Given the description of an element on the screen output the (x, y) to click on. 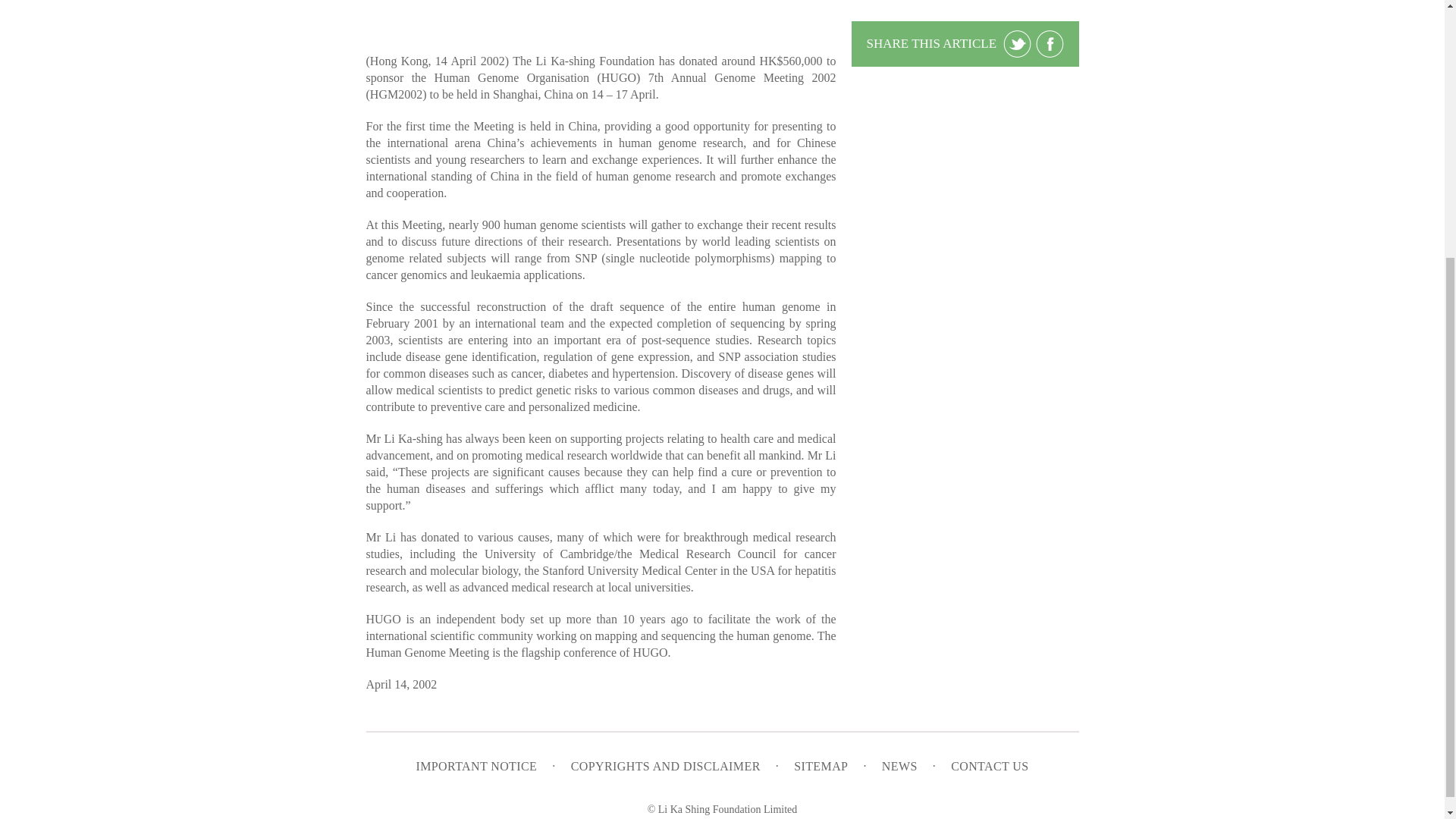
CONTACT US (988, 766)
